Given the description of an element on the screen output the (x, y) to click on. 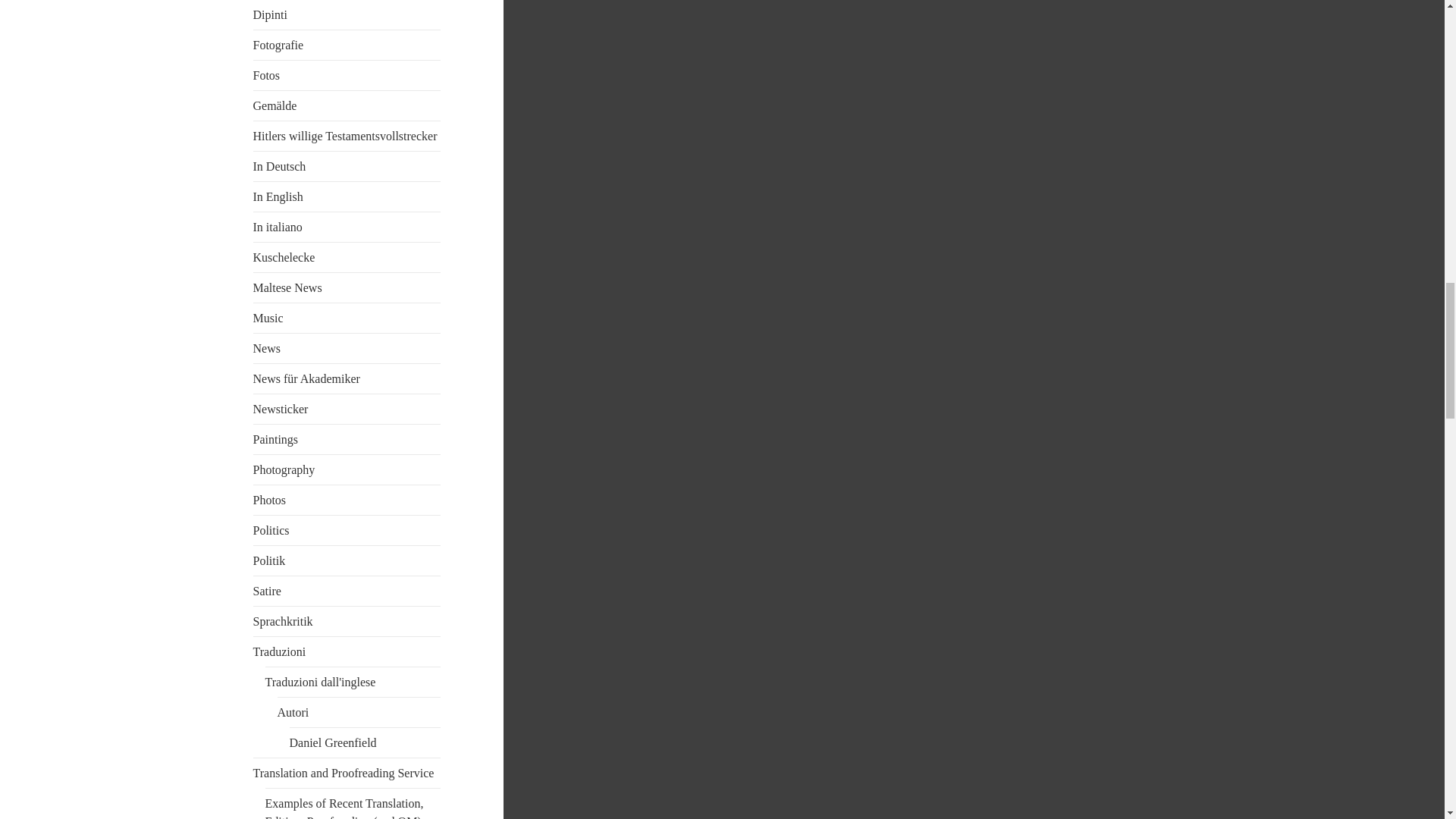
Maltese News (287, 287)
Kuschelecke (284, 256)
Commenti politici ecc. in italiano (277, 226)
In italiano (277, 226)
Fotos (267, 74)
Dipinti (269, 14)
In English (277, 196)
Fotografie (278, 44)
Hier darfst Du! (284, 256)
In Deutsch (279, 165)
News (267, 348)
Music (268, 318)
Hitlers willige Testamentsvollstrecker (345, 135)
